Given the description of an element on the screen output the (x, y) to click on. 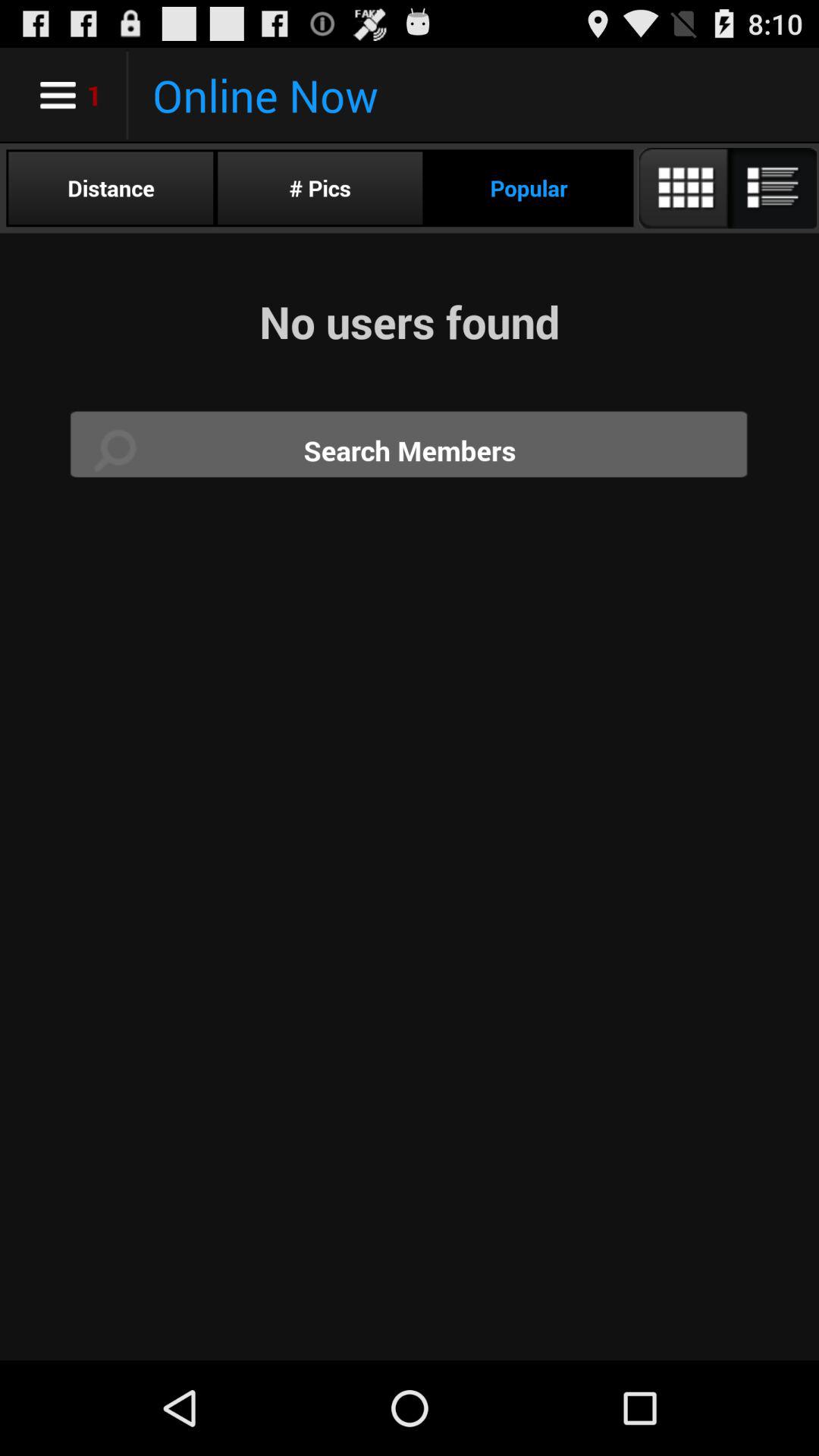
click the radio button to the left of the popular (319, 187)
